Given the description of an element on the screen output the (x, y) to click on. 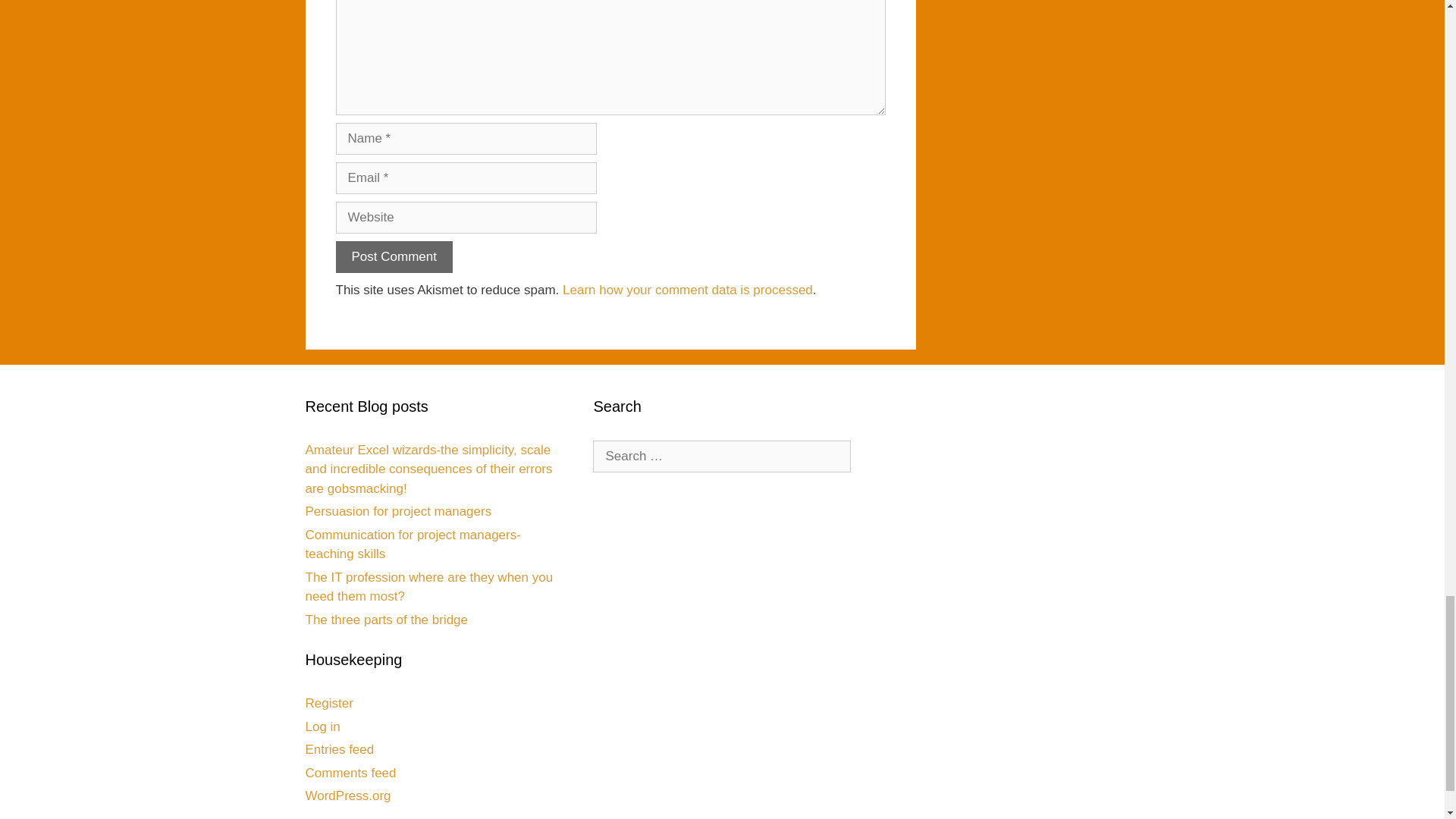
Post Comment (392, 256)
Learn how your comment data is processed (687, 289)
Search for: (721, 456)
Post Comment (392, 256)
